Given the description of an element on the screen output the (x, y) to click on. 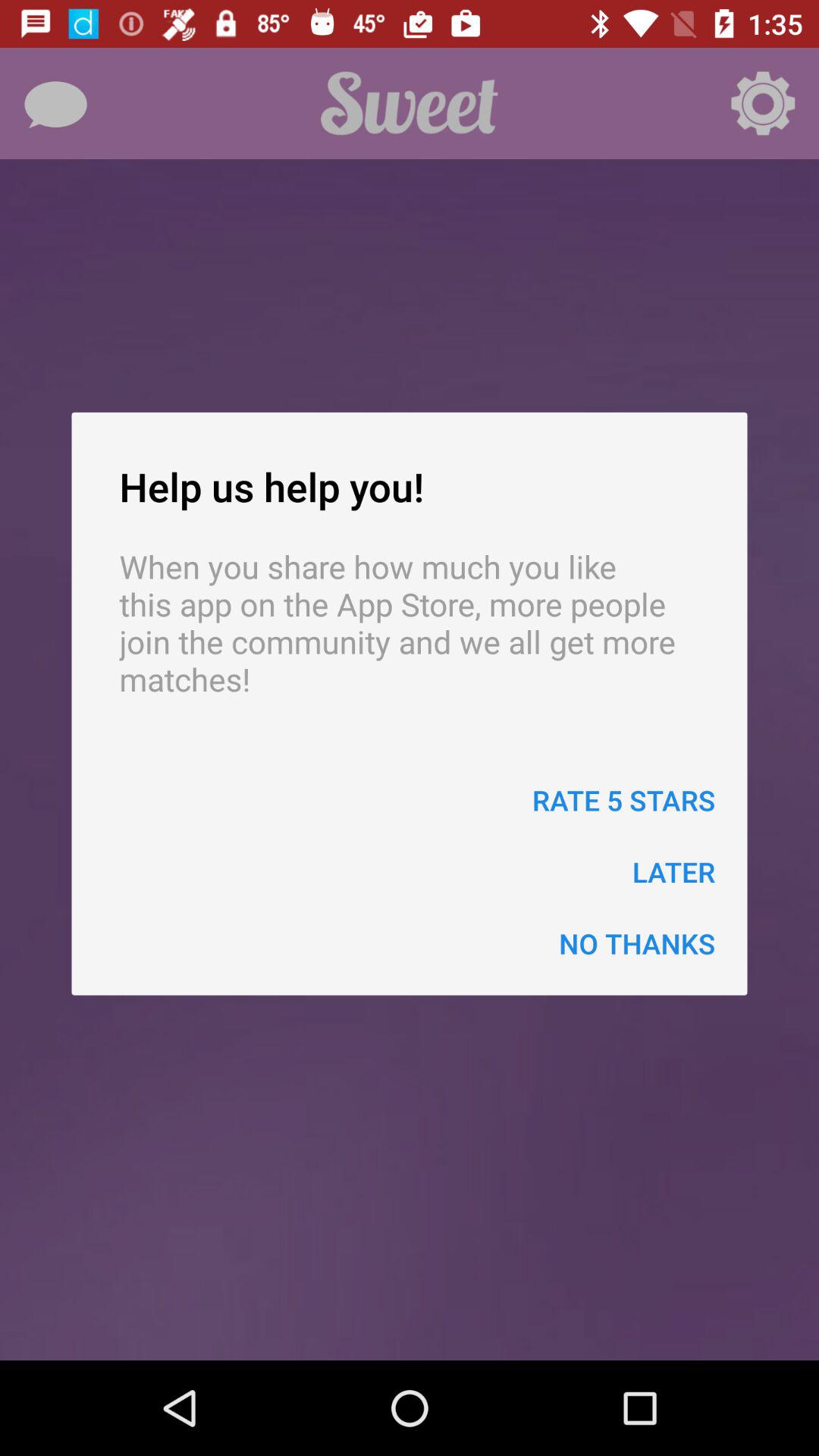
select icon above later item (623, 800)
